Given the description of an element on the screen output the (x, y) to click on. 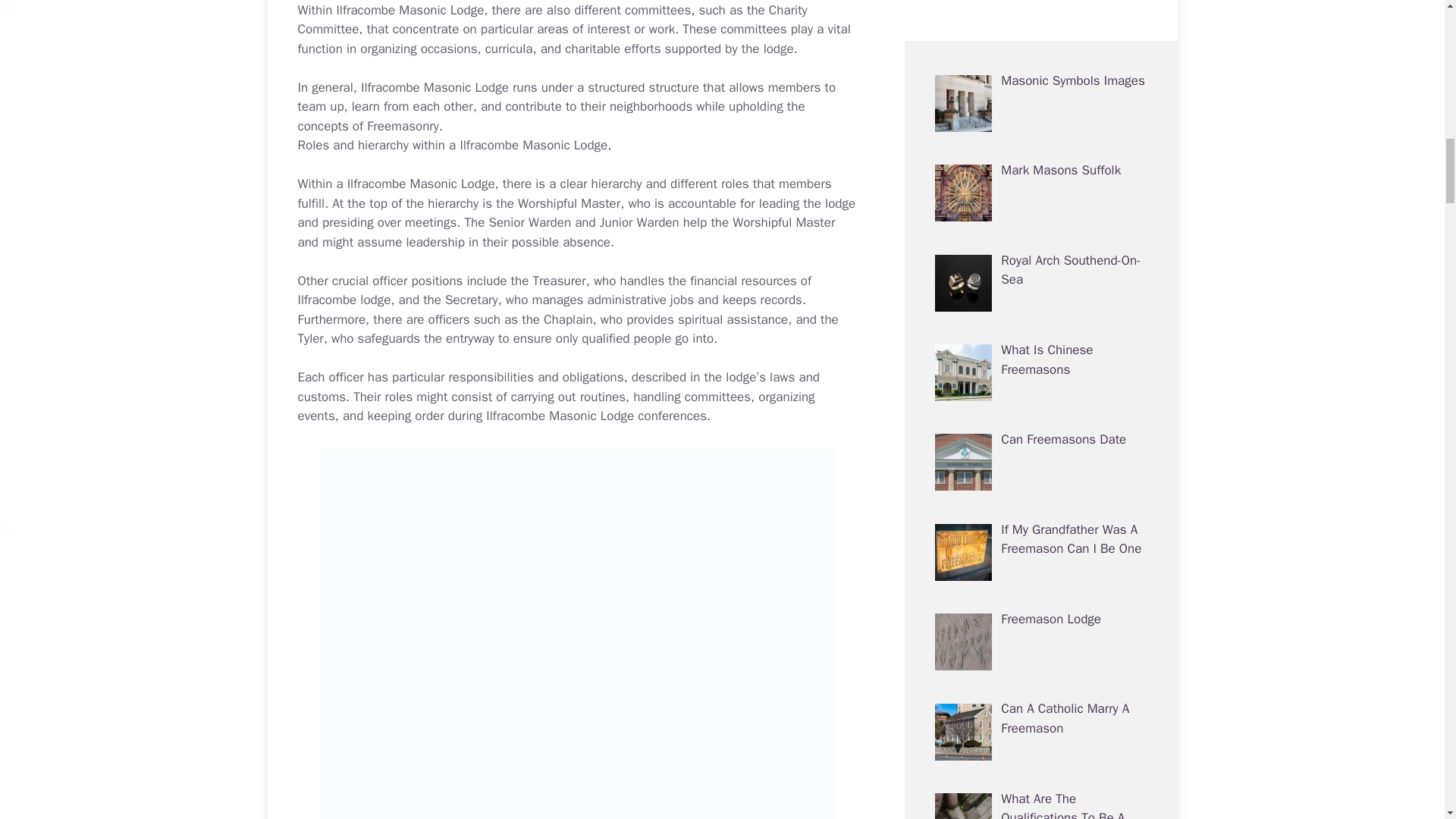
Can A Freemason Go To Any Lodge (1032, 465)
Mark Masons Torbay (1059, 41)
What Is Freemasons Victoria (1014, 413)
What Is A Knight Templar Freemason (1037, 490)
What Is A Free Mason Job (1062, 230)
How Can I Become A Freemason (1059, 140)
What Is A Masonic Club (1000, 439)
